Given the description of an element on the screen output the (x, y) to click on. 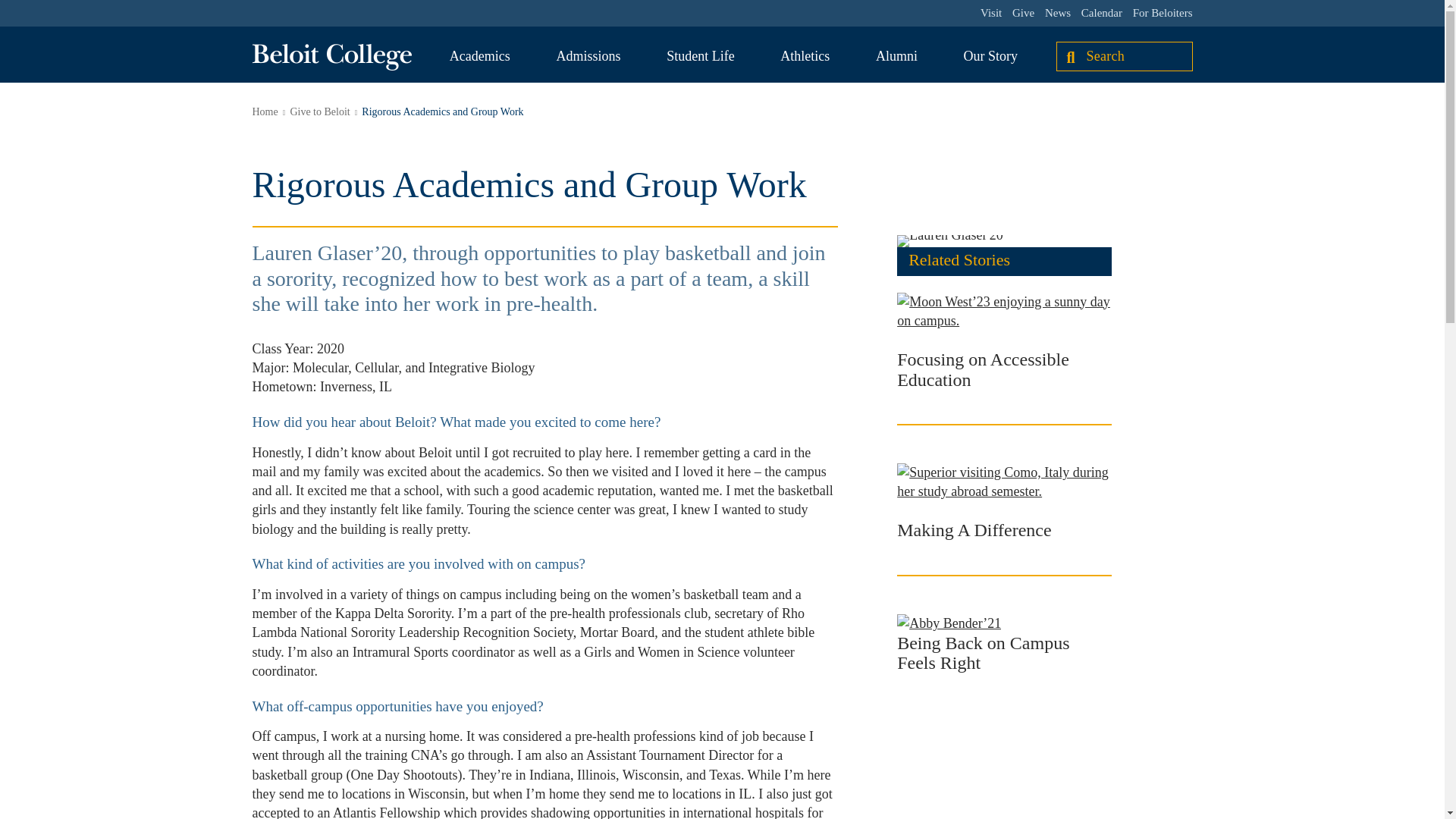
Athletics (804, 56)
News (1057, 12)
Academics (480, 56)
Admissions (588, 56)
For Beloiters (1162, 12)
Our Story (990, 56)
Making A Difference (973, 529)
Beloit College (330, 57)
Home (264, 111)
Give to Beloit (319, 111)
